Given the description of an element on the screen output the (x, y) to click on. 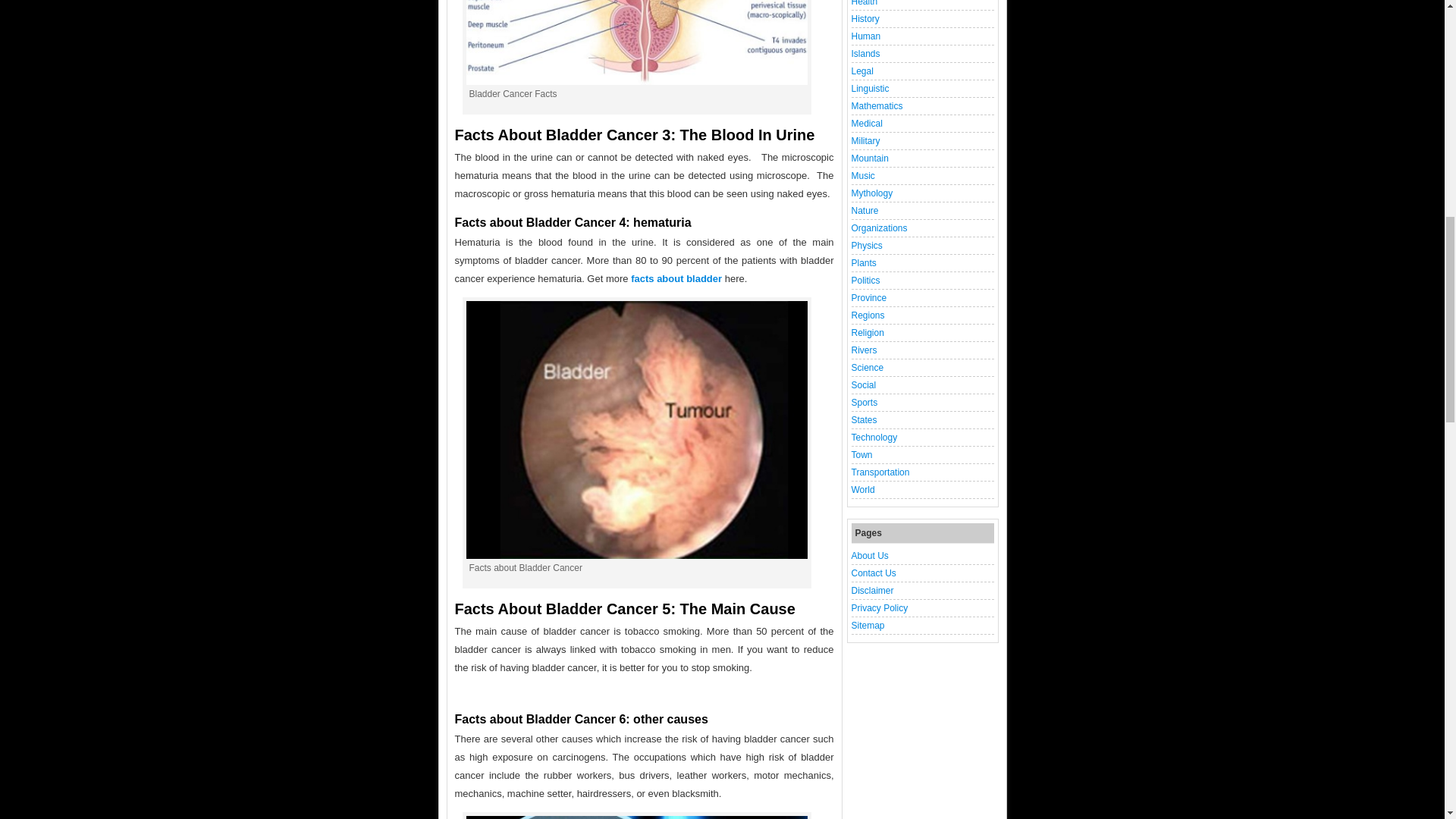
facts about bladder (676, 278)
